Given the description of an element on the screen output the (x, y) to click on. 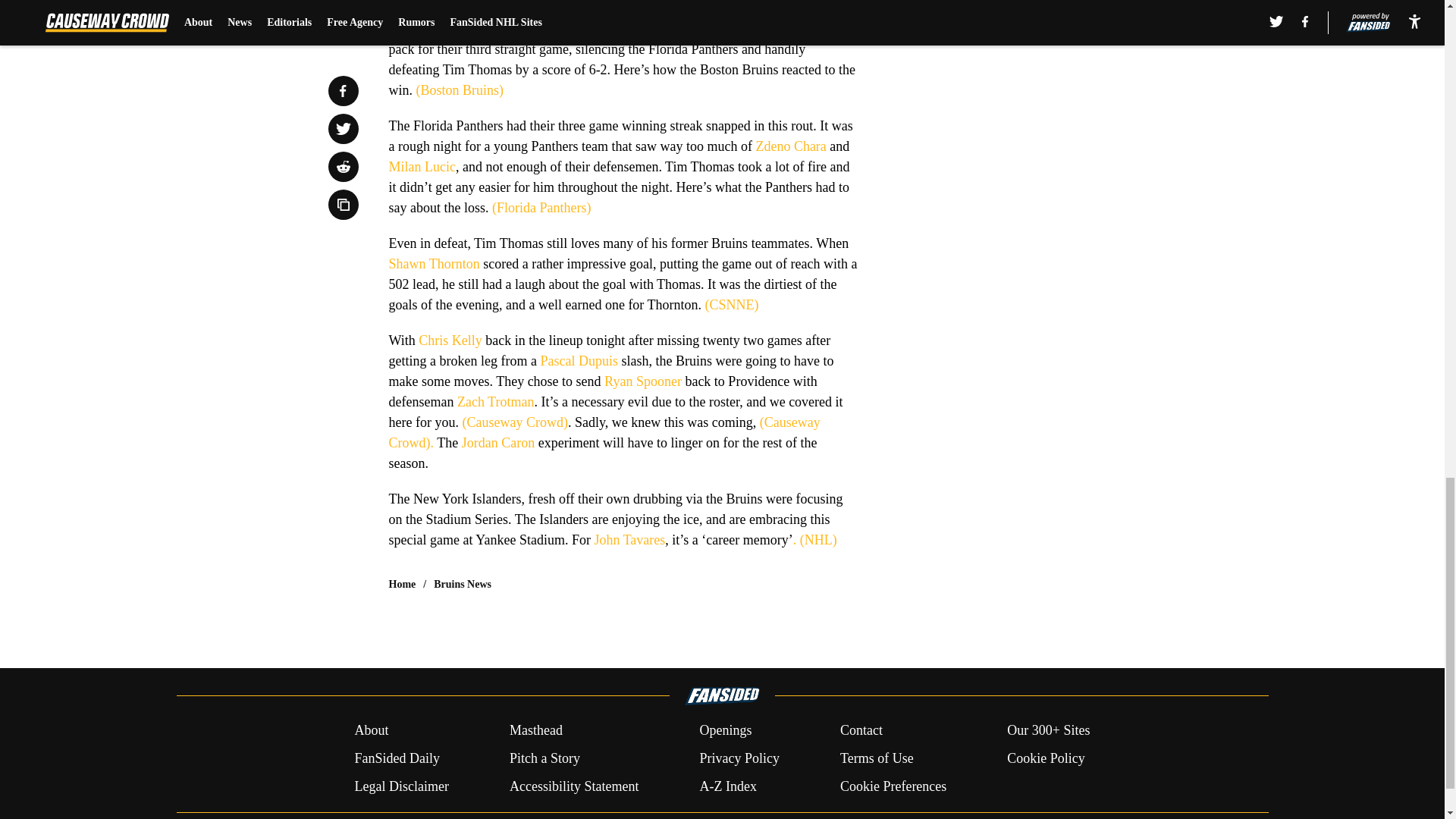
Milan Lucic (421, 166)
Chris Kelly (450, 340)
Jordan Caron (497, 442)
Ryan Spooner (642, 381)
John Tavares (629, 539)
Bruins News (462, 584)
Zdeno Chara (790, 145)
Pascal Dupuis (578, 360)
Zach Trotman (495, 401)
Shawn Thornton (433, 263)
About (370, 730)
Home (401, 584)
